Given the description of an element on the screen output the (x, y) to click on. 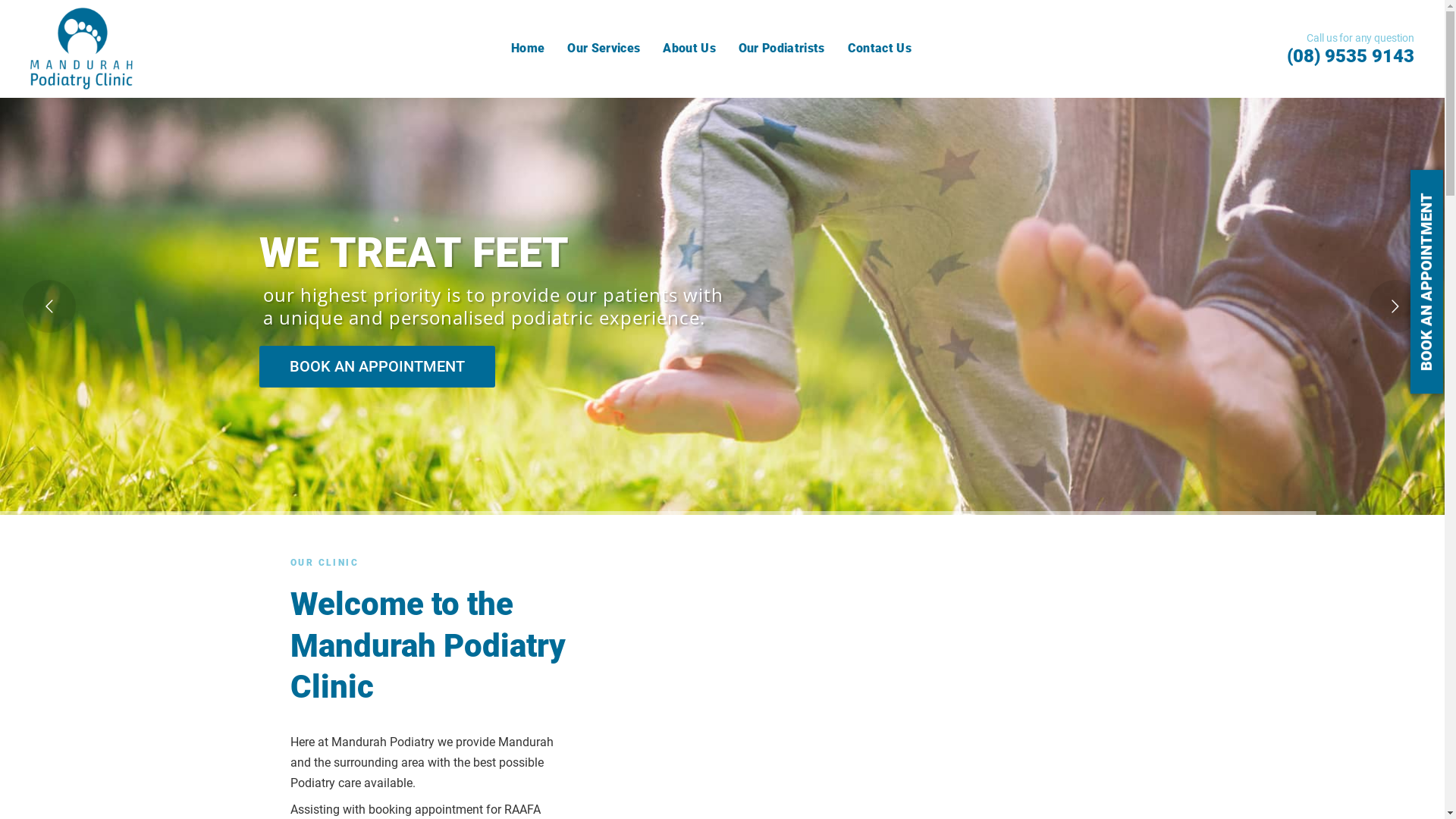
Contact Us Element type: text (879, 48)
About Us Element type: text (689, 48)
BOOK AN APPOINTMENT Element type: text (377, 366)
Home Element type: text (527, 48)
(08) 9535 9143 Element type: text (1350, 55)
Our Podiatrists Element type: text (781, 48)
Our Services Element type: text (603, 48)
